Given the description of an element on the screen output the (x, y) to click on. 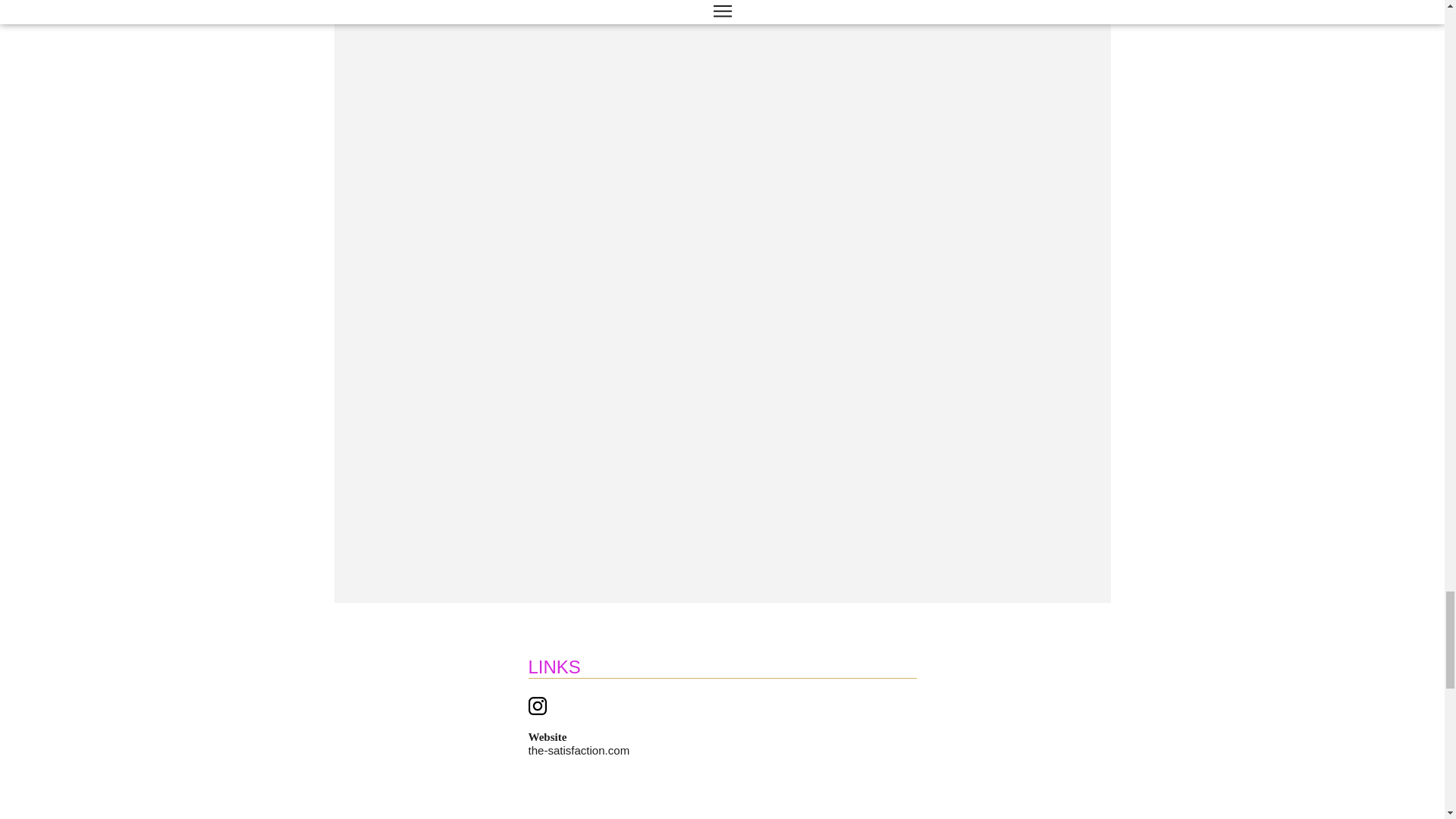
the-satisfaction.com (577, 749)
